Given the description of an element on the screen output the (x, y) to click on. 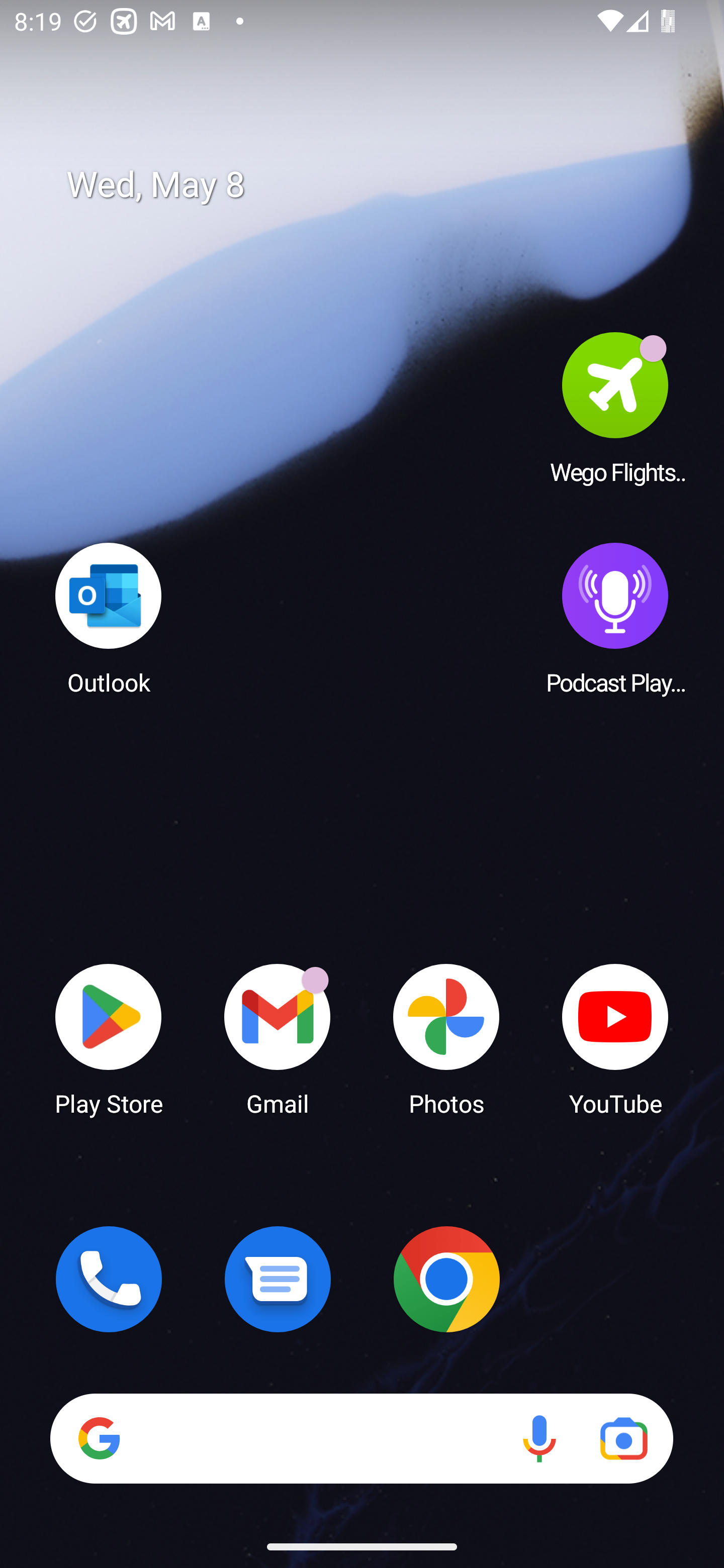
Wed, May 8 (375, 184)
Outlook (108, 617)
Podcast Player (615, 617)
Play Store (108, 1038)
Gmail Gmail has 17 notifications (277, 1038)
Photos (445, 1038)
YouTube (615, 1038)
Phone (108, 1279)
Messages (277, 1279)
Chrome (446, 1279)
Search Voice search Google Lens (361, 1438)
Voice search (539, 1438)
Google Lens (623, 1438)
